Given the description of an element on the screen output the (x, y) to click on. 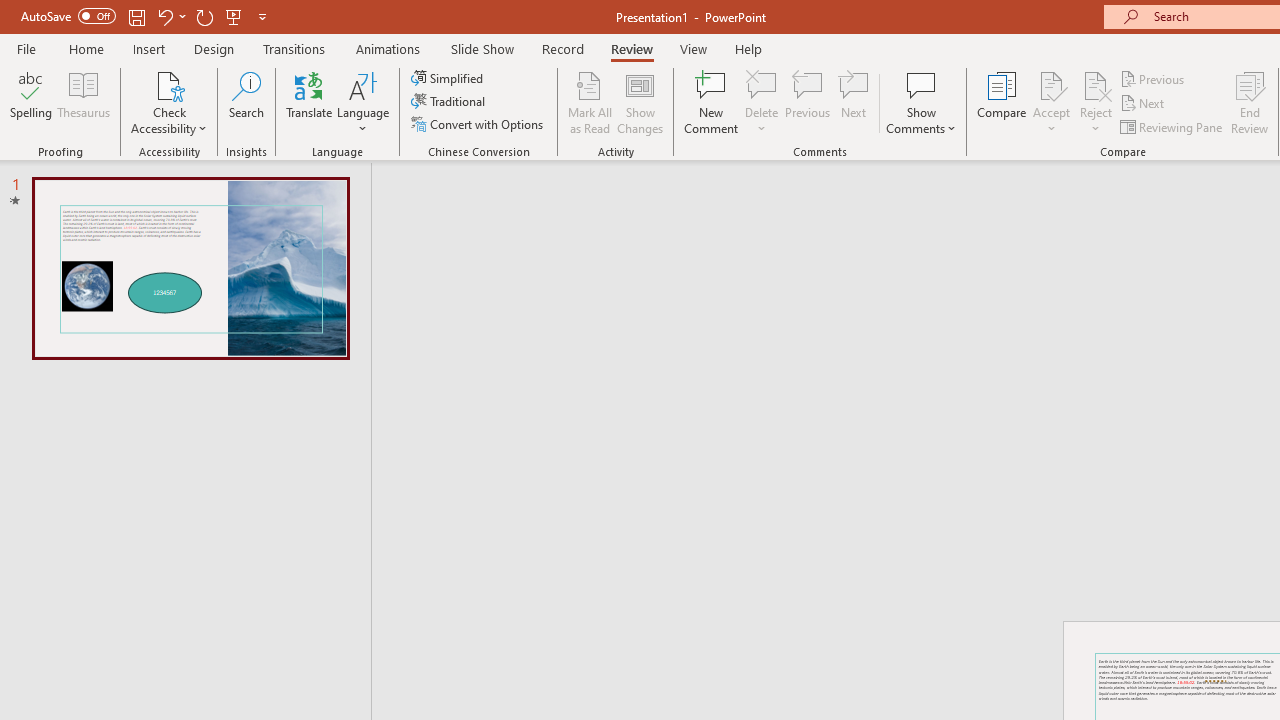
Accept Change (1051, 84)
Customize Quick Access Toolbar (262, 15)
Thesaurus... (83, 102)
Show Comments (921, 102)
Delete (762, 84)
End Review (1249, 102)
Animations (388, 48)
Home (86, 48)
Translate (309, 102)
Help (748, 48)
Next (1144, 103)
Simplified (449, 78)
Reviewing Pane (1172, 126)
Show Comments (921, 84)
